Given the description of an element on the screen output the (x, y) to click on. 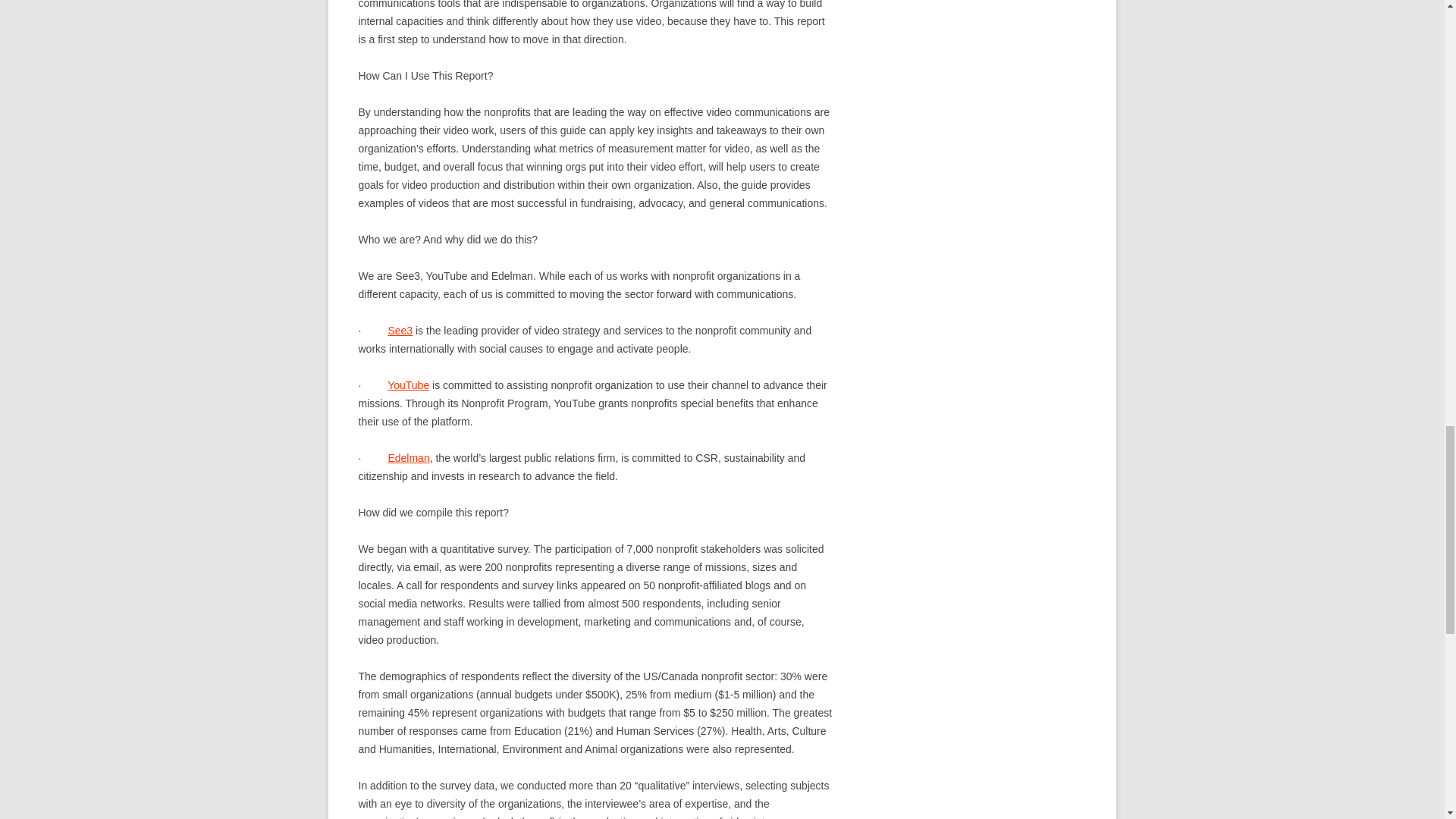
See3 (399, 330)
Edelman (408, 458)
YouTube (408, 385)
